Given the description of an element on the screen output the (x, y) to click on. 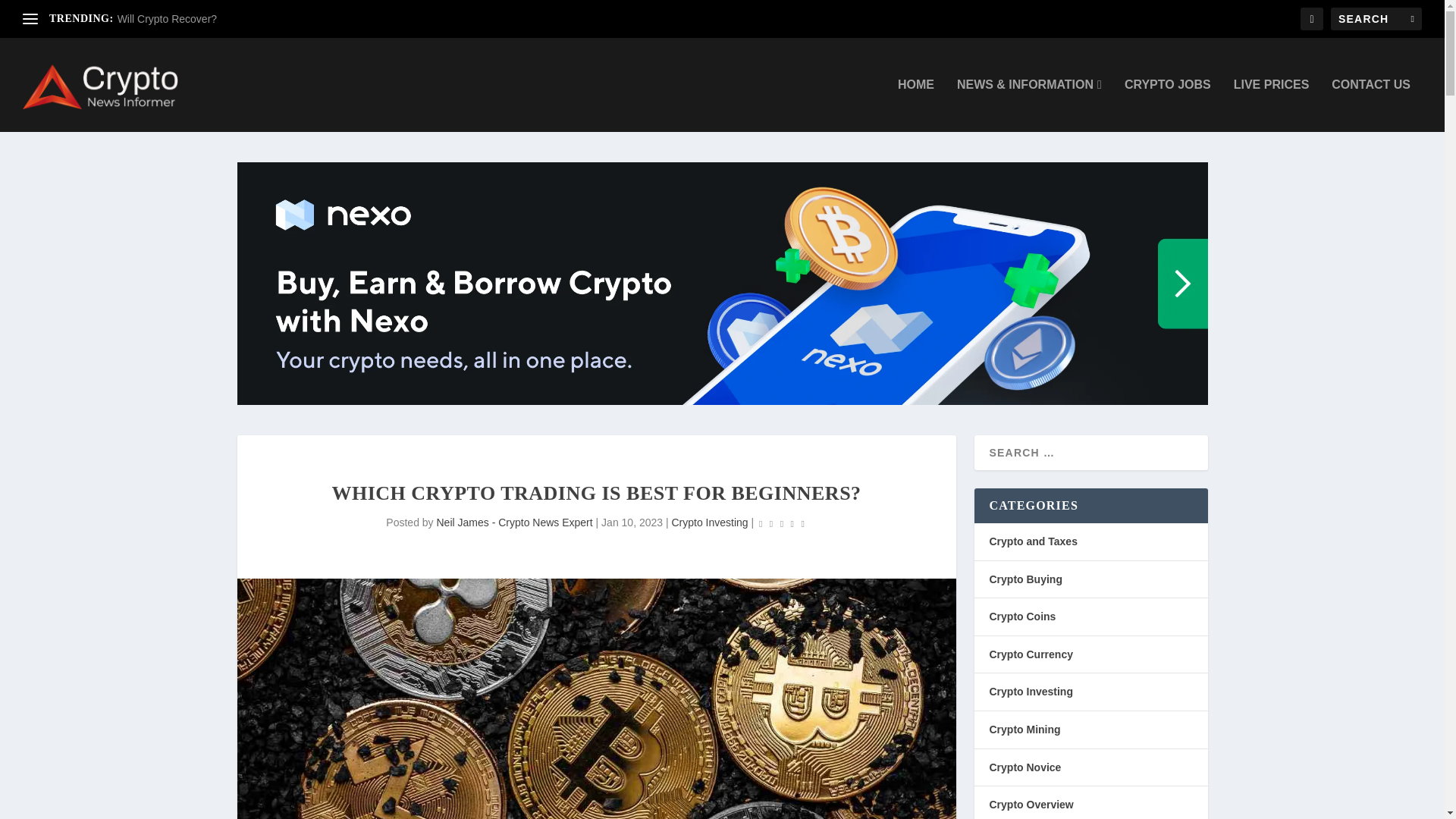
Will Crypto Recover? (166, 19)
CRYPTO JOBS (1167, 104)
Search for: (1376, 18)
Posts by Neil James - Crypto News Expert (514, 522)
CONTACT US (1371, 104)
LIVE PRICES (1270, 104)
Rating: 0.00 (781, 523)
